Given the description of an element on the screen output the (x, y) to click on. 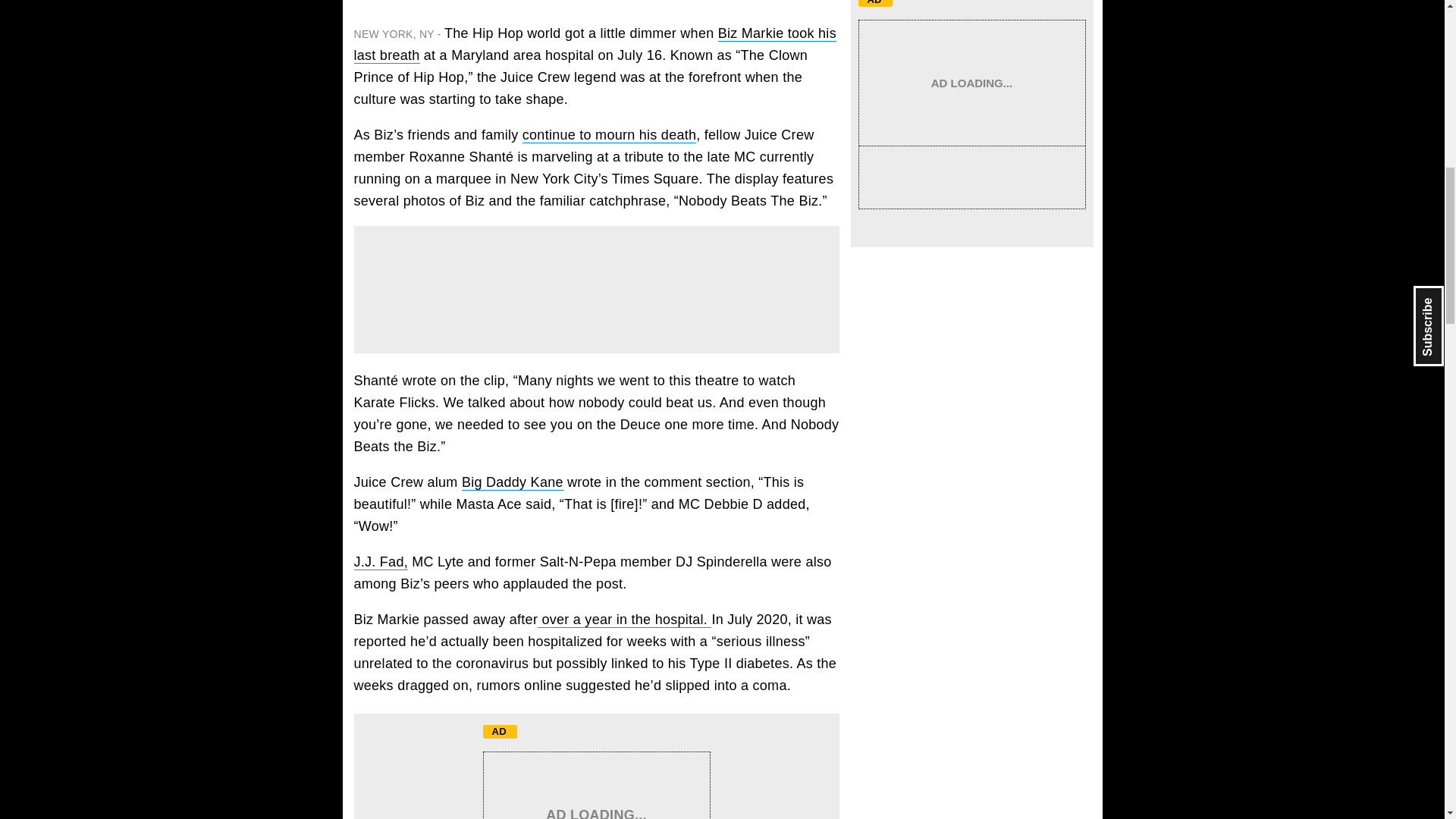
over a year in the hospital.  (624, 619)
continue to mourn his death (608, 135)
Big Daddy Kane (512, 482)
J.J. Fad, (380, 562)
Biz Markie took his last breath (594, 44)
